Given the description of an element on the screen output the (x, y) to click on. 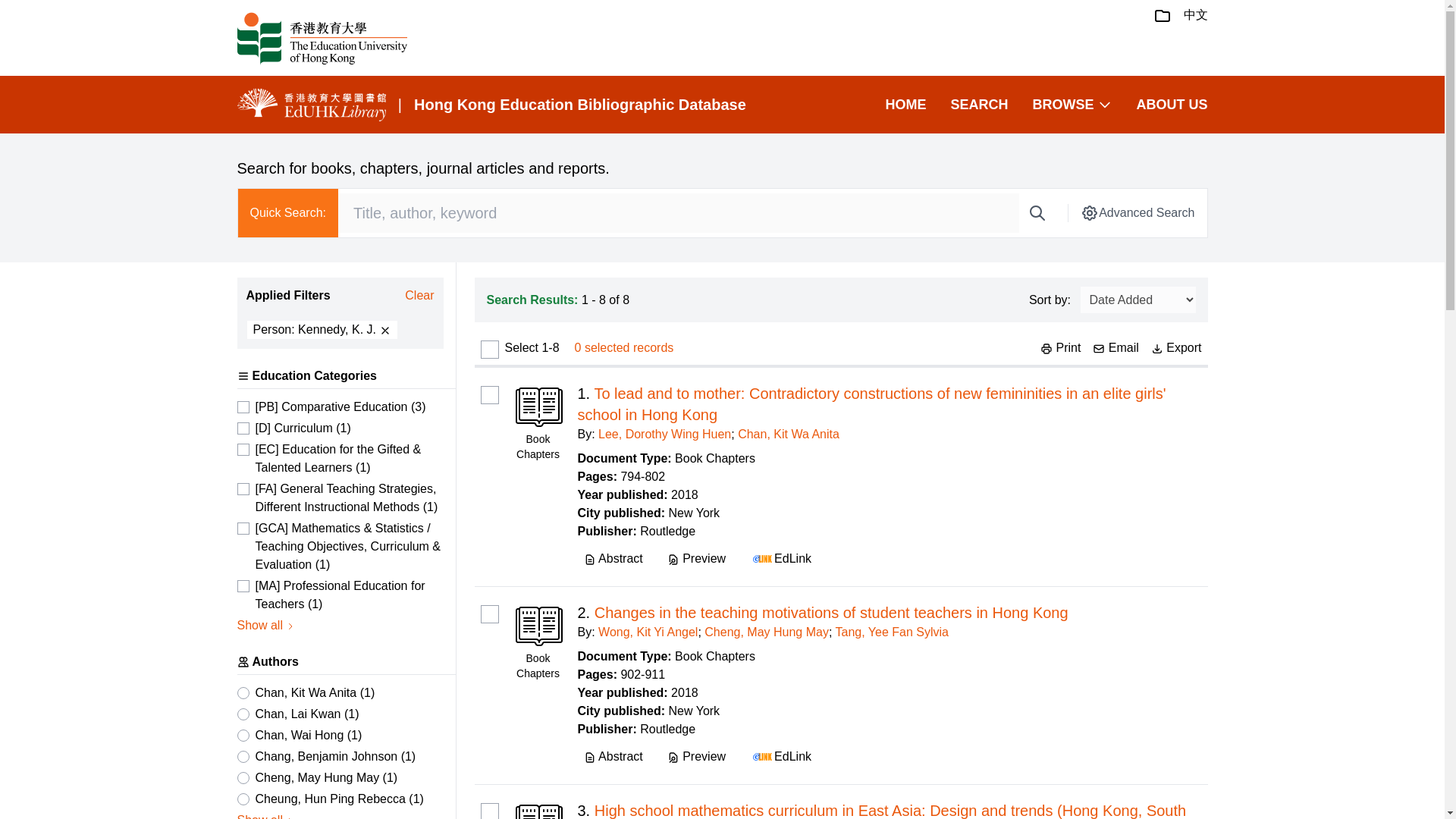
Advanced Search (1136, 212)
Hong Kong Education Bibliographic Database (579, 104)
Lee, Dorothy Wing Huen (664, 433)
SEARCH (978, 104)
Show all (265, 815)
Preview (696, 558)
Export (1176, 348)
Show all (265, 625)
Abstract (613, 558)
BROWSE (1072, 104)
HOME (905, 104)
Chan, Kit Wa Anita (789, 433)
Print (1060, 348)
Email (1115, 348)
Clear (418, 295)
